Given the description of an element on the screen output the (x, y) to click on. 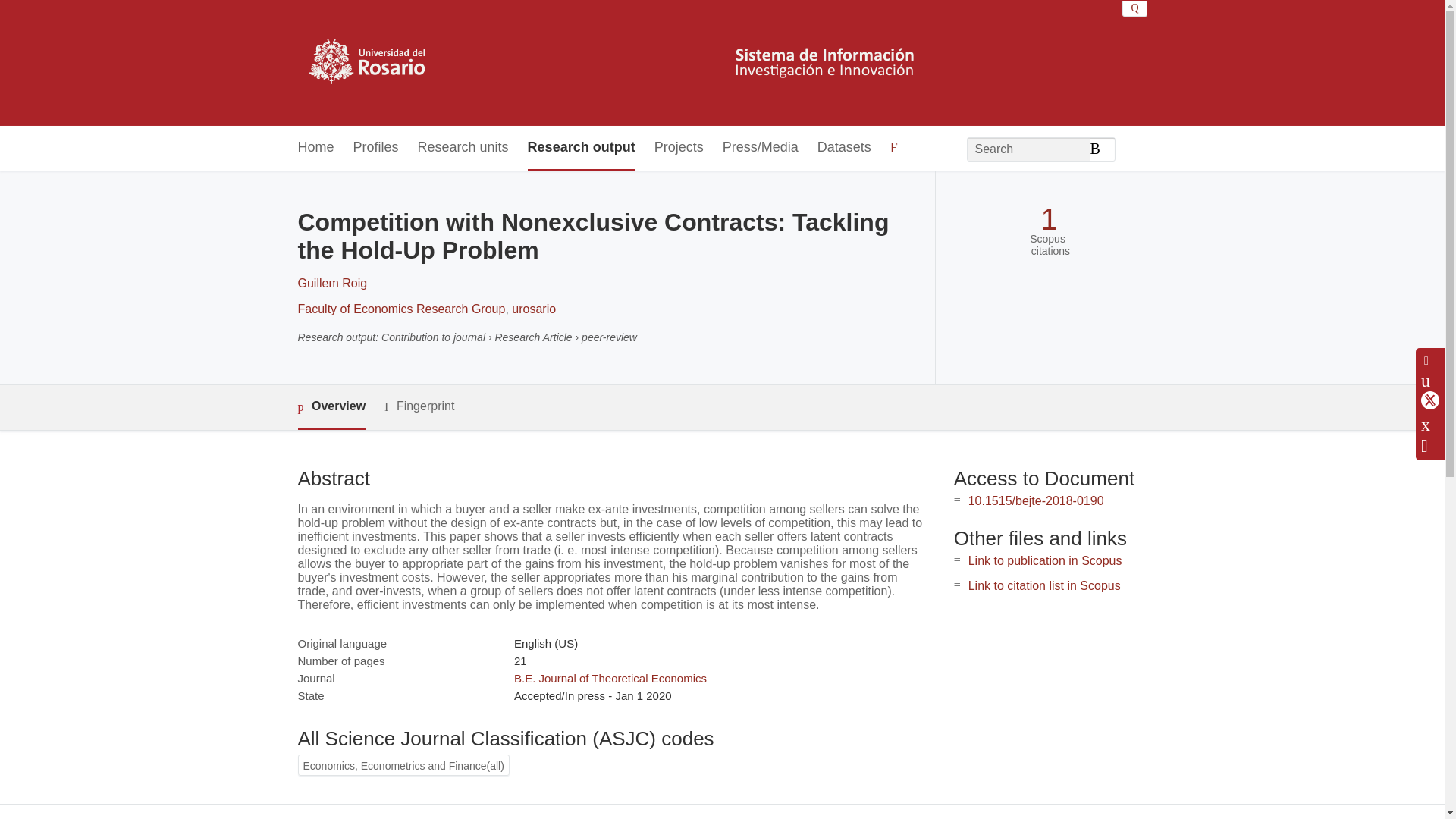
Faculty of Economics Research Group (401, 308)
B.E. Journal of Theoretical Economics (609, 677)
Guillem Roig (331, 282)
Overview (331, 406)
urosario (534, 308)
Datasets (843, 148)
Fingerprint (419, 406)
Link to publication in Scopus (1045, 560)
Profiles (375, 148)
Projects (678, 148)
Research units (462, 148)
Universidad del Rosario Home (615, 62)
Research output (580, 148)
Link to citation list in Scopus (1044, 585)
